Given the description of an element on the screen output the (x, y) to click on. 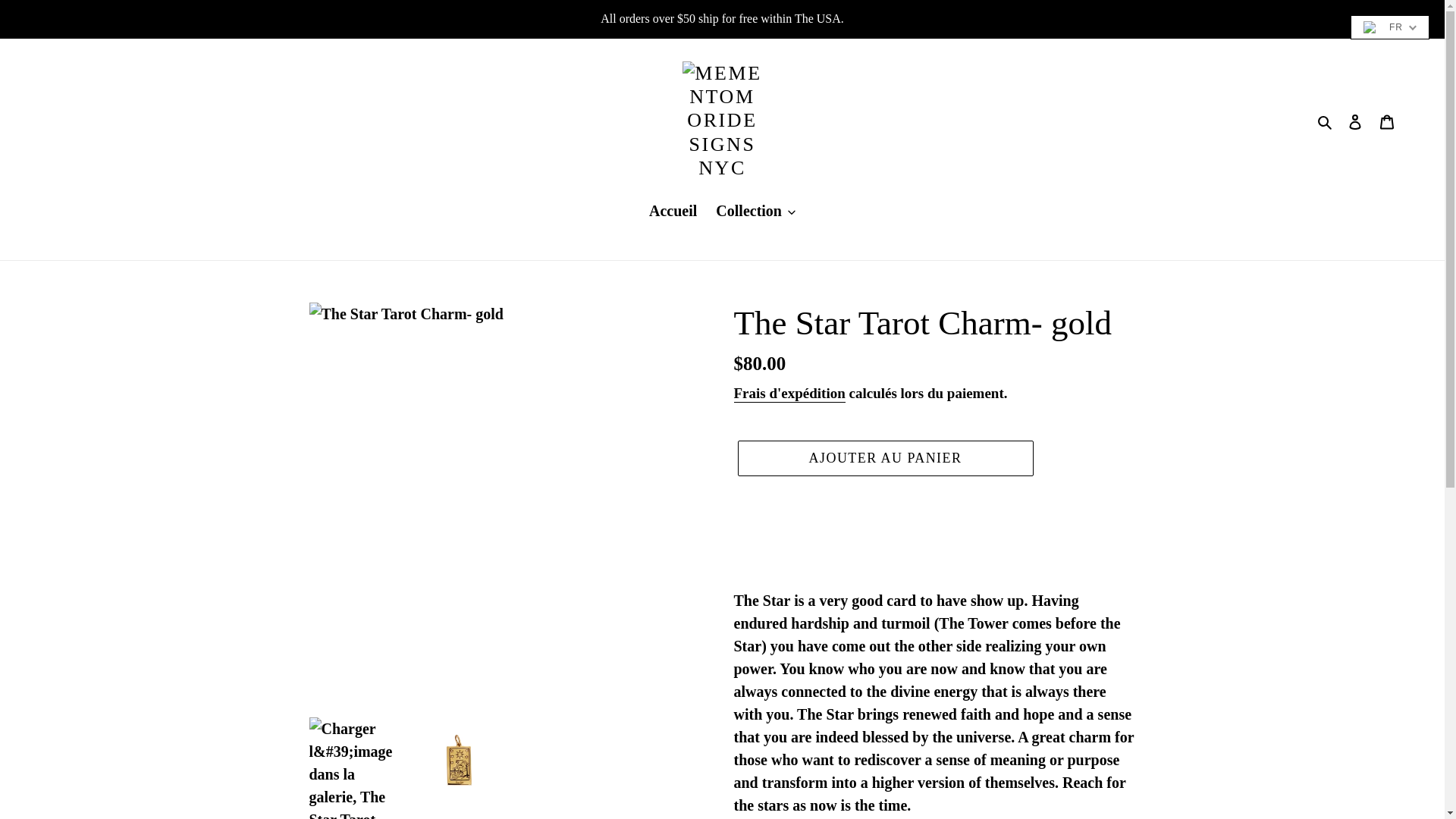
Collection (755, 211)
Accueil (673, 211)
Rechercher (1326, 120)
